Given the description of an element on the screen output the (x, y) to click on. 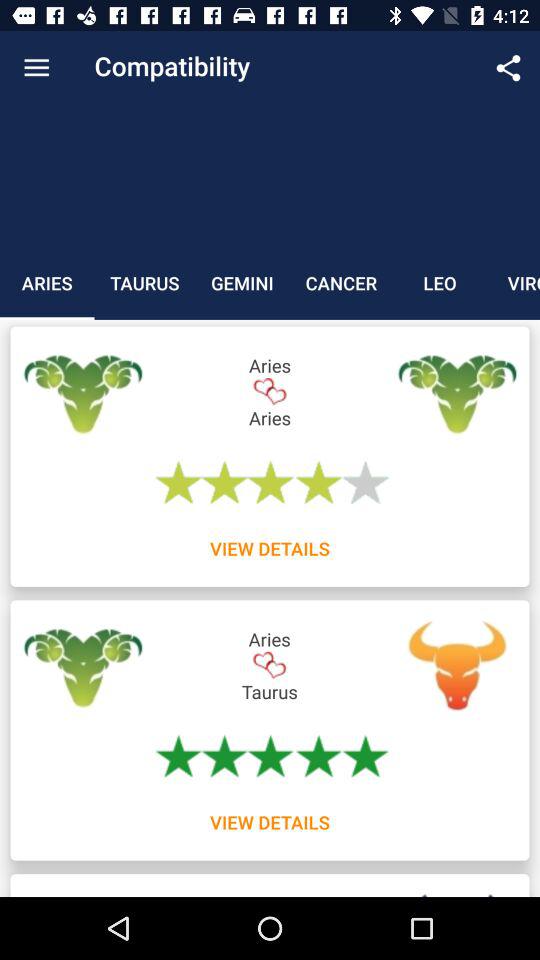
click on the share button at the top right (508, 68)
the label below aries (82, 392)
